Given the description of an element on the screen output the (x, y) to click on. 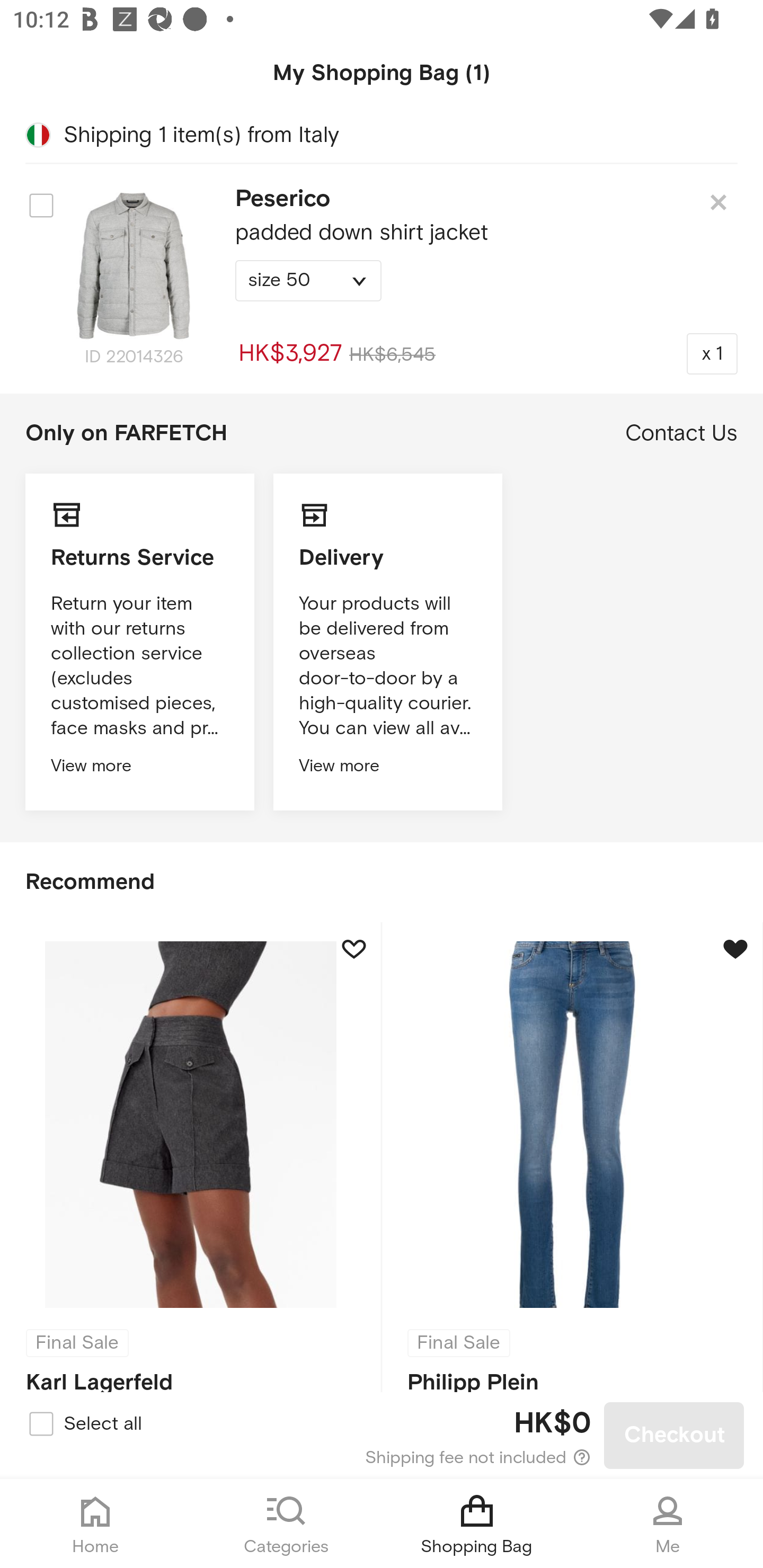
size 50 (308, 280)
x 1 (711, 353)
Contact Us (680, 433)
HK$0 Shipping fee not included (382, 1435)
Checkout (673, 1435)
Home (95, 1523)
Categories (285, 1523)
Me (667, 1523)
